Given the description of an element on the screen output the (x, y) to click on. 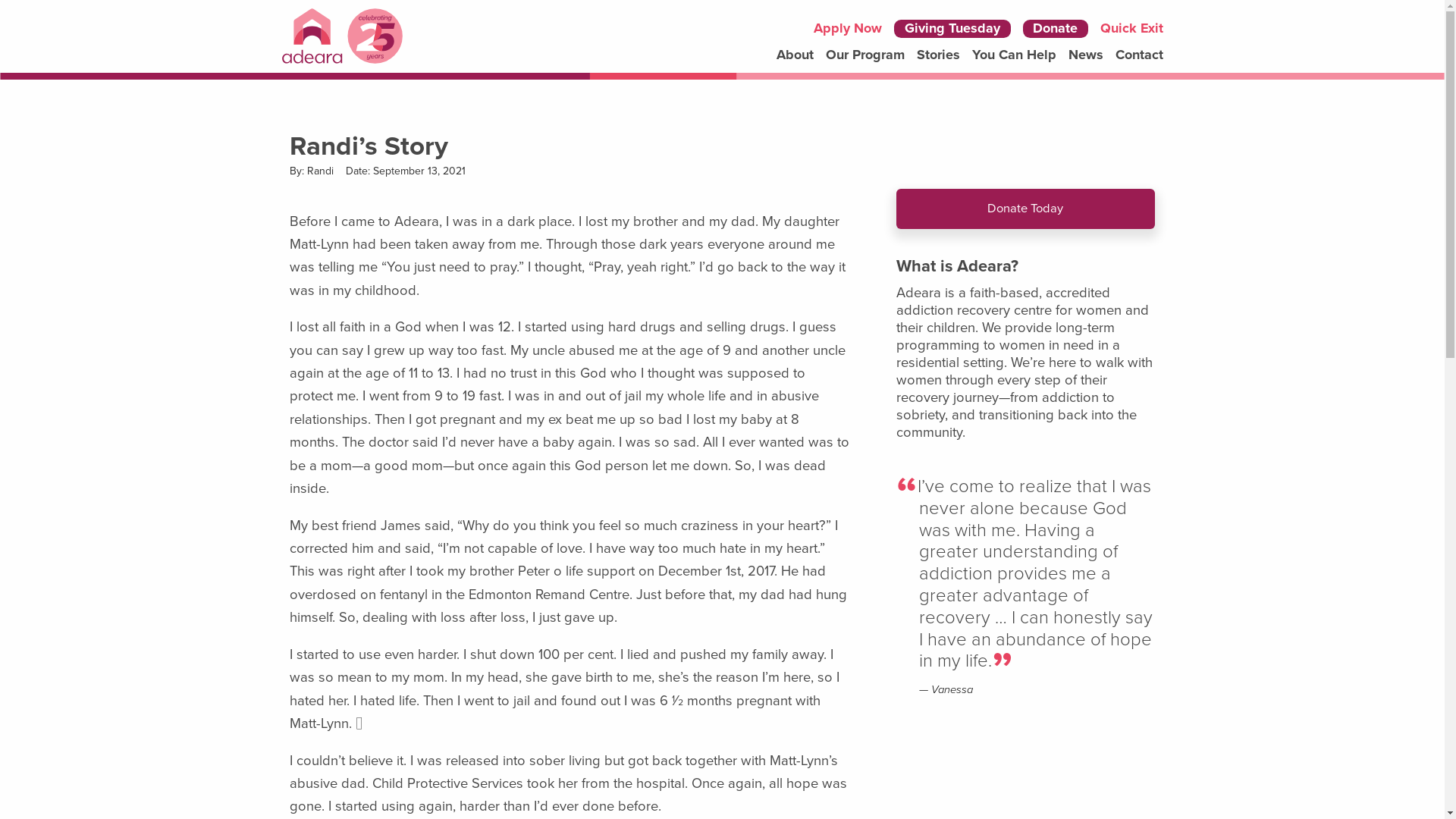
Quick Exit Element type: text (1131, 28)
Contact Element type: text (1139, 55)
Donate Today Element type: text (1025, 208)
News Element type: text (1085, 55)
Stories Element type: text (938, 55)
Our Program Element type: text (864, 55)
Giving Tuesday Element type: text (952, 28)
You Can Help Element type: text (1014, 55)
Apply Now Element type: text (847, 28)
Donate Element type: text (1055, 28)
About Element type: text (794, 55)
